Given the description of an element on the screen output the (x, y) to click on. 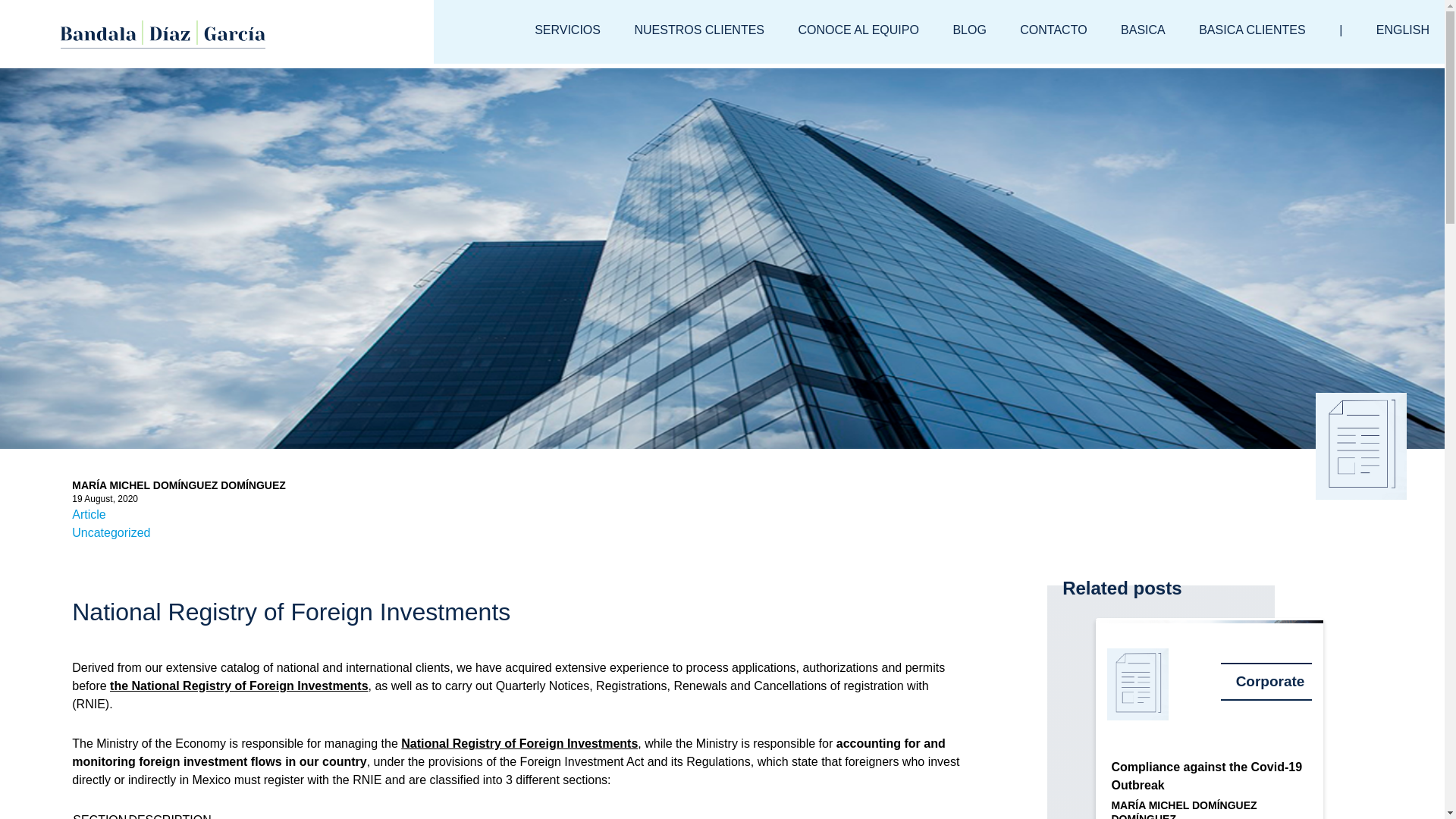
English (1402, 31)
BLOG (968, 30)
BASICA CLIENTES (1251, 30)
SERVICIOS (567, 31)
NUESTROS CLIENTES (698, 31)
BASICA (1143, 30)
Uncategorized (110, 532)
CONOCE AL EQUIPO (858, 30)
Article (87, 513)
ENGLISH (1402, 31)
CONTACTO (1053, 30)
